Given the description of an element on the screen output the (x, y) to click on. 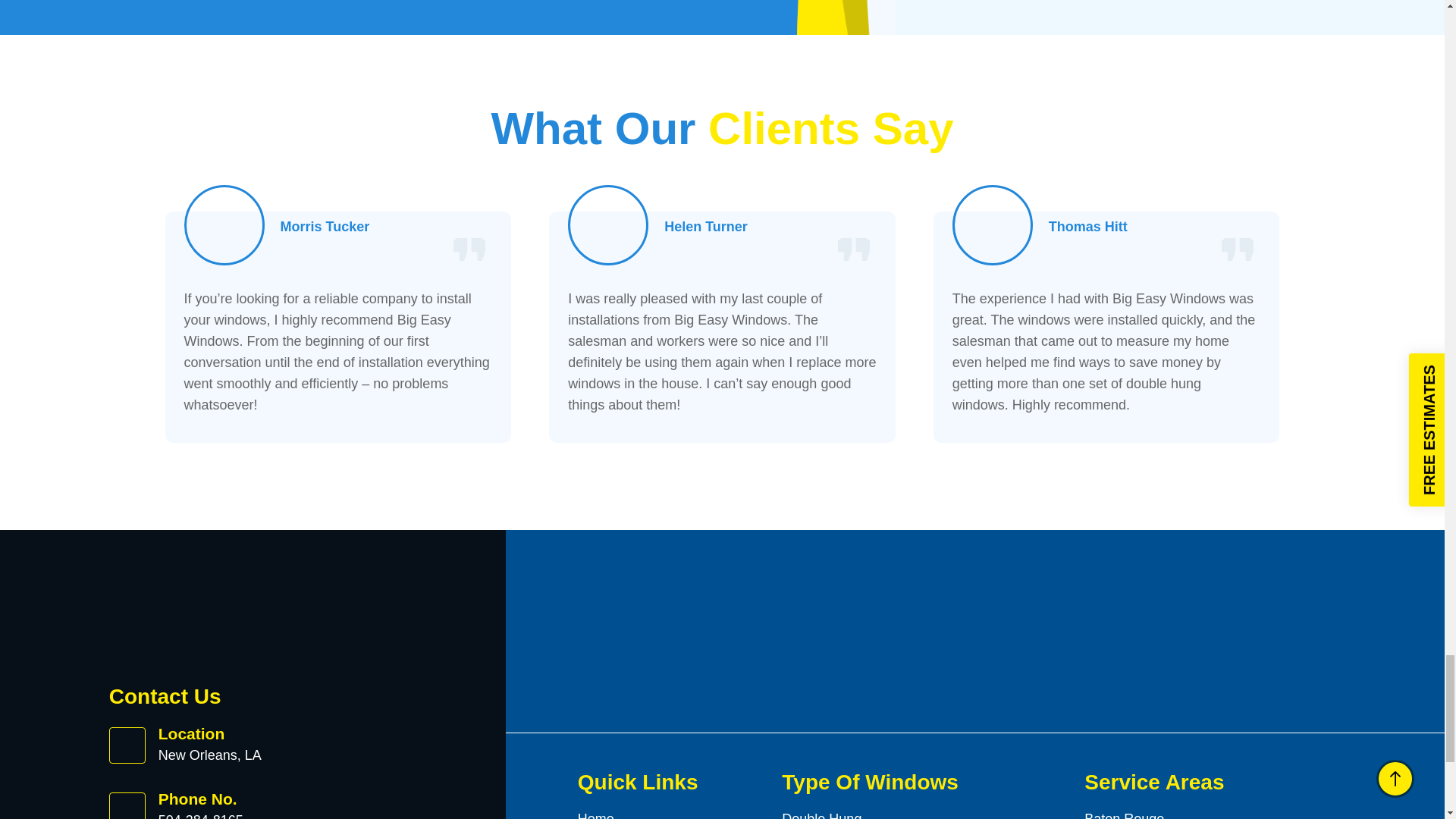
map (1164, 4)
Untitled (608, 224)
Untitled (224, 224)
footer-logo (208, 618)
Untitled (992, 224)
